Given the description of an element on the screen output the (x, y) to click on. 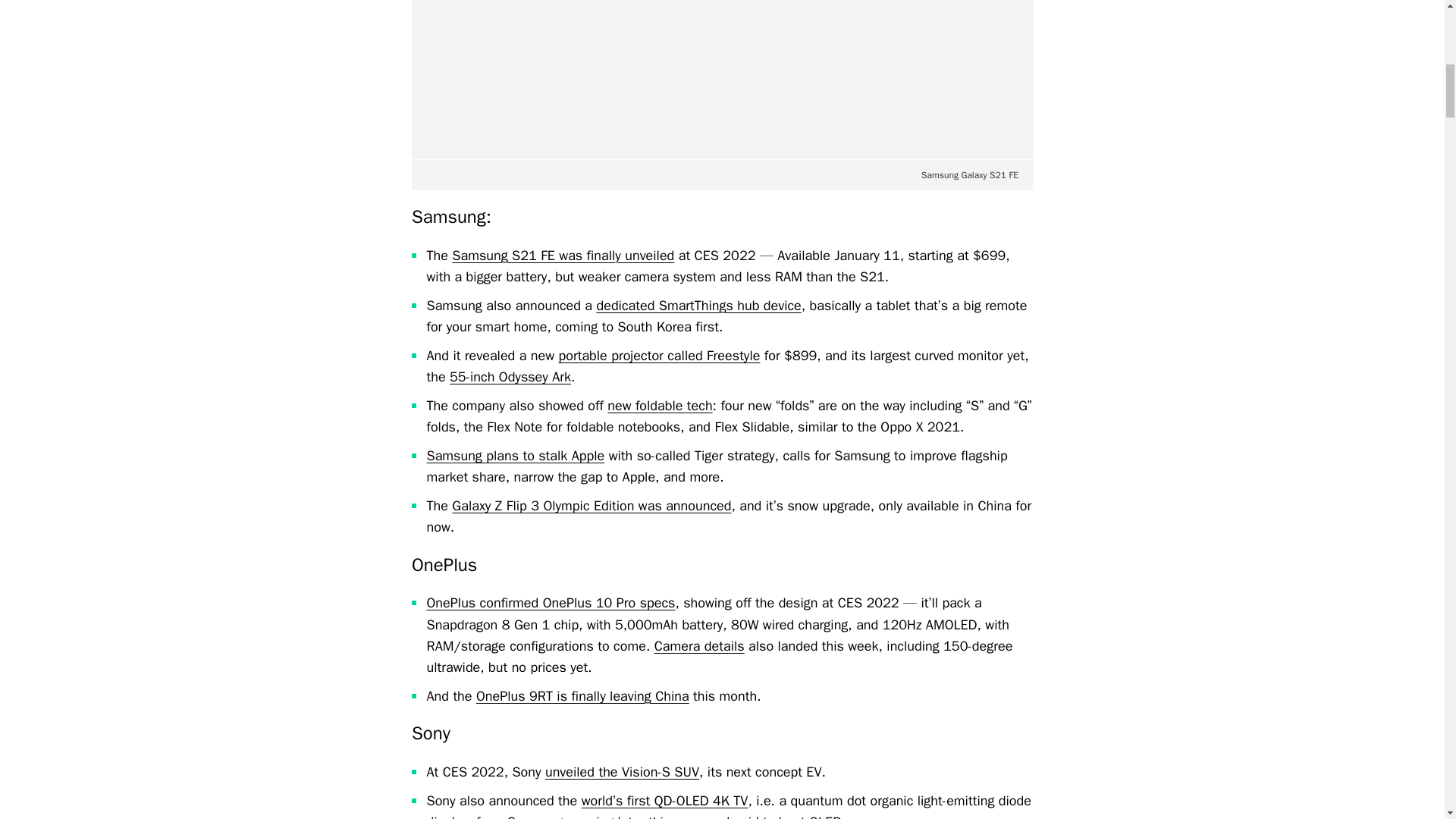
dedicated SmartThings hub device (697, 305)
unveiled the Vision-S SUV (621, 771)
OnePlus 9RT is finally leaving China (582, 695)
Samsung plans to stalk Apple (515, 455)
55-inch Odyssey Ark (509, 376)
OnePlus confirmed OnePlus 10 Pro specs (550, 602)
new foldable tech (659, 405)
Galaxy Z Flip 3 Olympic Edition was announced (590, 505)
Samsung S21 FE was finally unveiled (562, 255)
Camera details (698, 646)
